Given the description of an element on the screen output the (x, y) to click on. 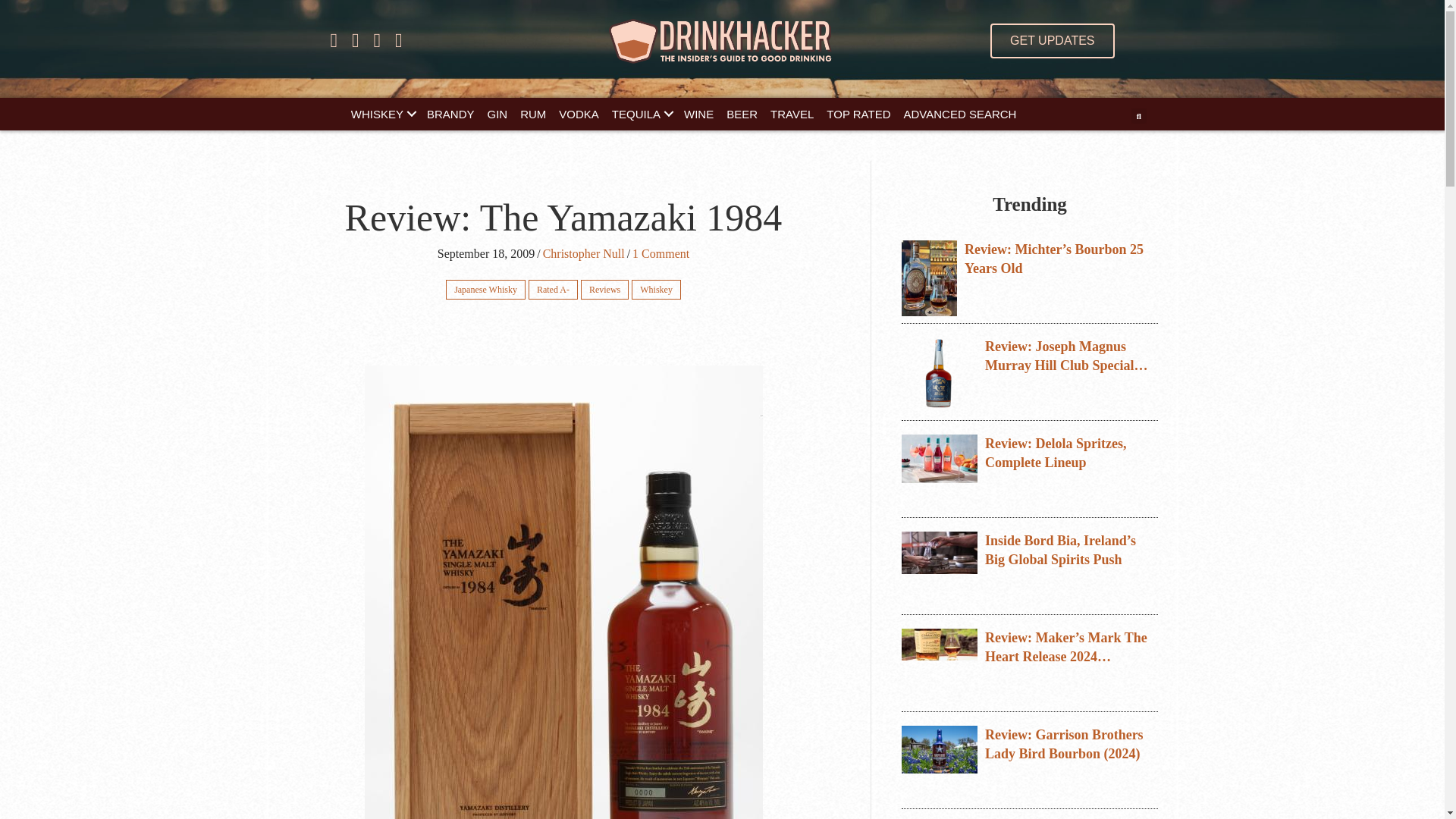
ADVANCED SEARCH (960, 113)
Click Here (1051, 40)
TOP RATED (858, 113)
TRAVEL (791, 113)
BRANDY (450, 113)
Submit (739, 313)
WINE (698, 113)
GIN (496, 113)
GET UPDATES (1051, 40)
drinkhacker-logo-pinktag-transparent (721, 40)
RUM (532, 113)
WHISKEY (382, 113)
TEQUILA (641, 113)
VODKA (579, 113)
